Given the description of an element on the screen output the (x, y) to click on. 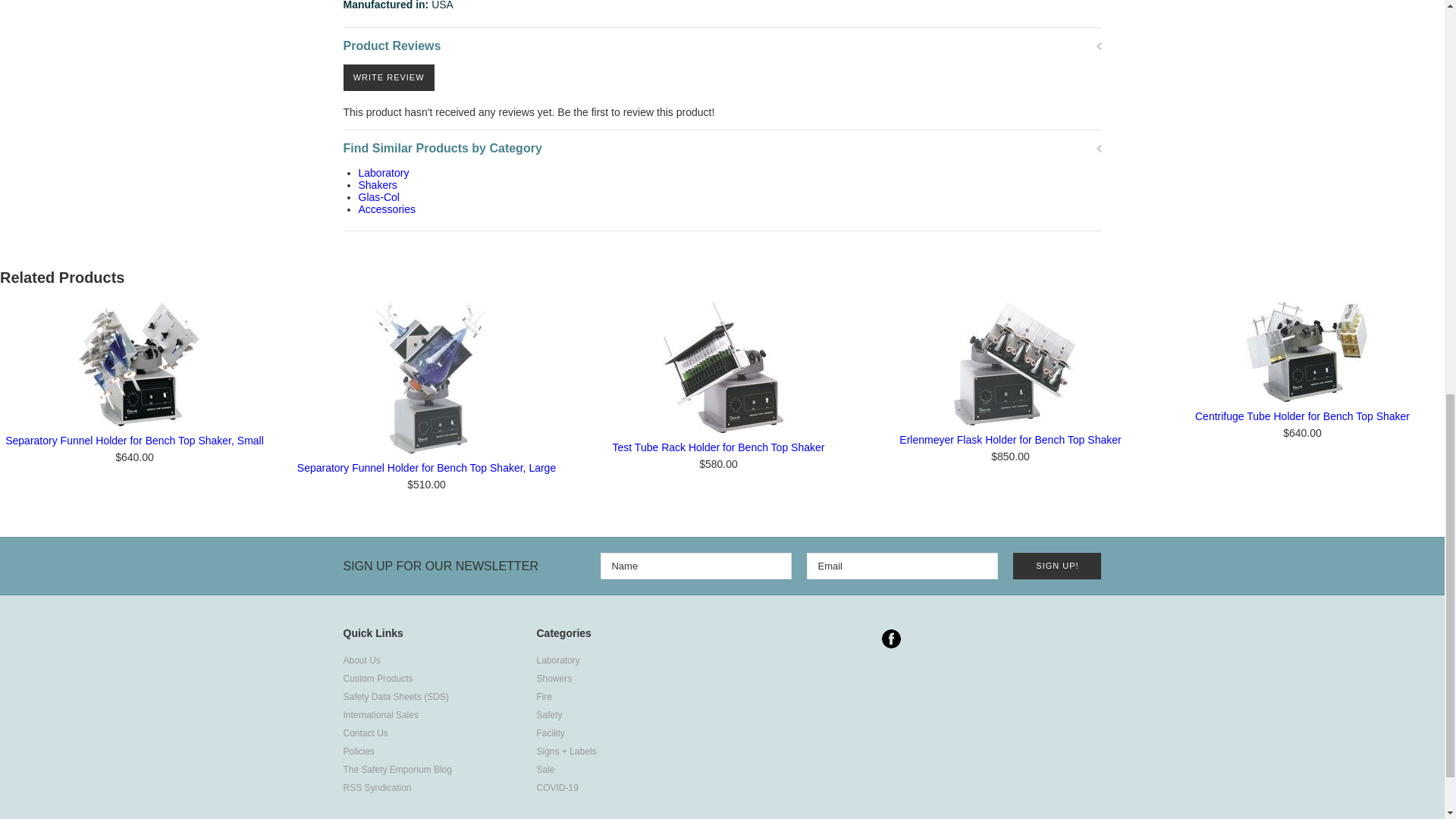
Email (901, 565)
Name (695, 565)
Facebook (889, 638)
Sign Up! (1056, 565)
